Given the description of an element on the screen output the (x, y) to click on. 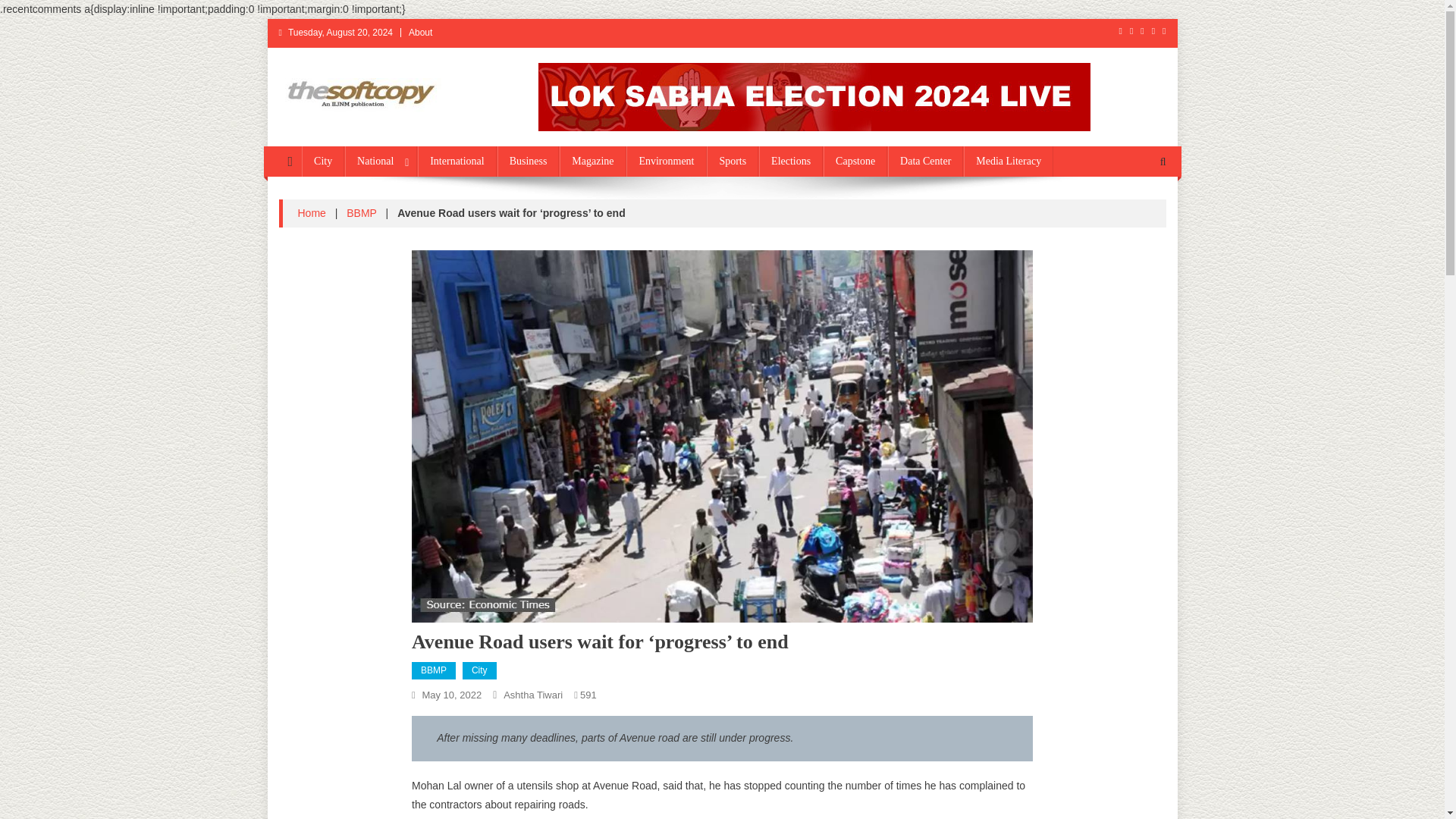
City (479, 670)
Business (528, 161)
Sports (732, 161)
Media Literacy (1007, 161)
International (456, 161)
May 10, 2022 (451, 695)
Capstone (855, 161)
Magazine (592, 161)
The Softcopy (355, 126)
Ashtha Tiwari (532, 695)
